Given the description of an element on the screen output the (x, y) to click on. 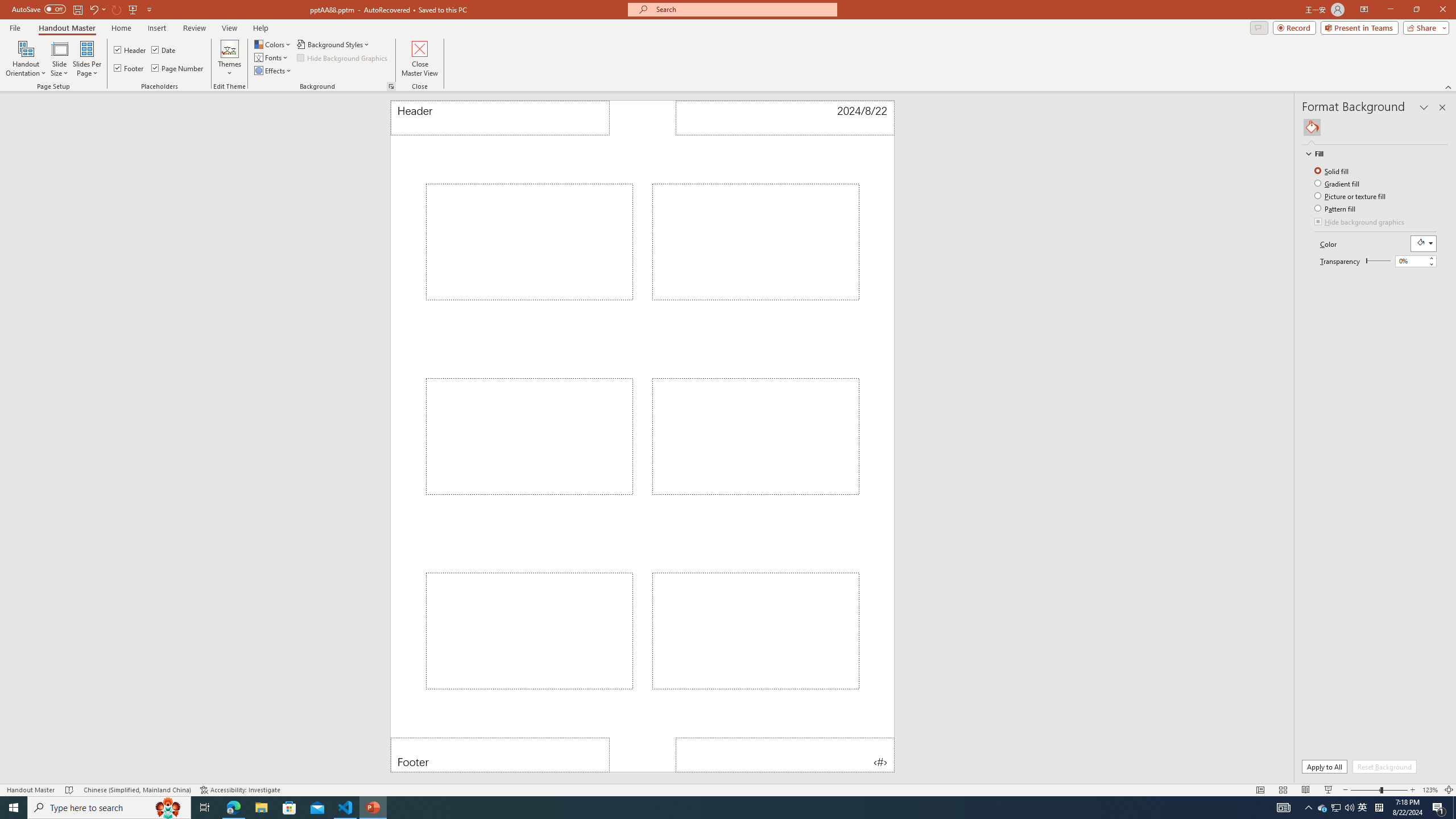
Close Master View (419, 58)
Gradient fill (1337, 183)
Class: NetUIImage (1308, 153)
Handout Orientation (26, 58)
Effects (273, 69)
Accessibility Checker Accessibility: Investigate (240, 790)
Class: NetUIScrollBar (1443, 451)
Colors (272, 44)
